Given the description of an element on the screen output the (x, y) to click on. 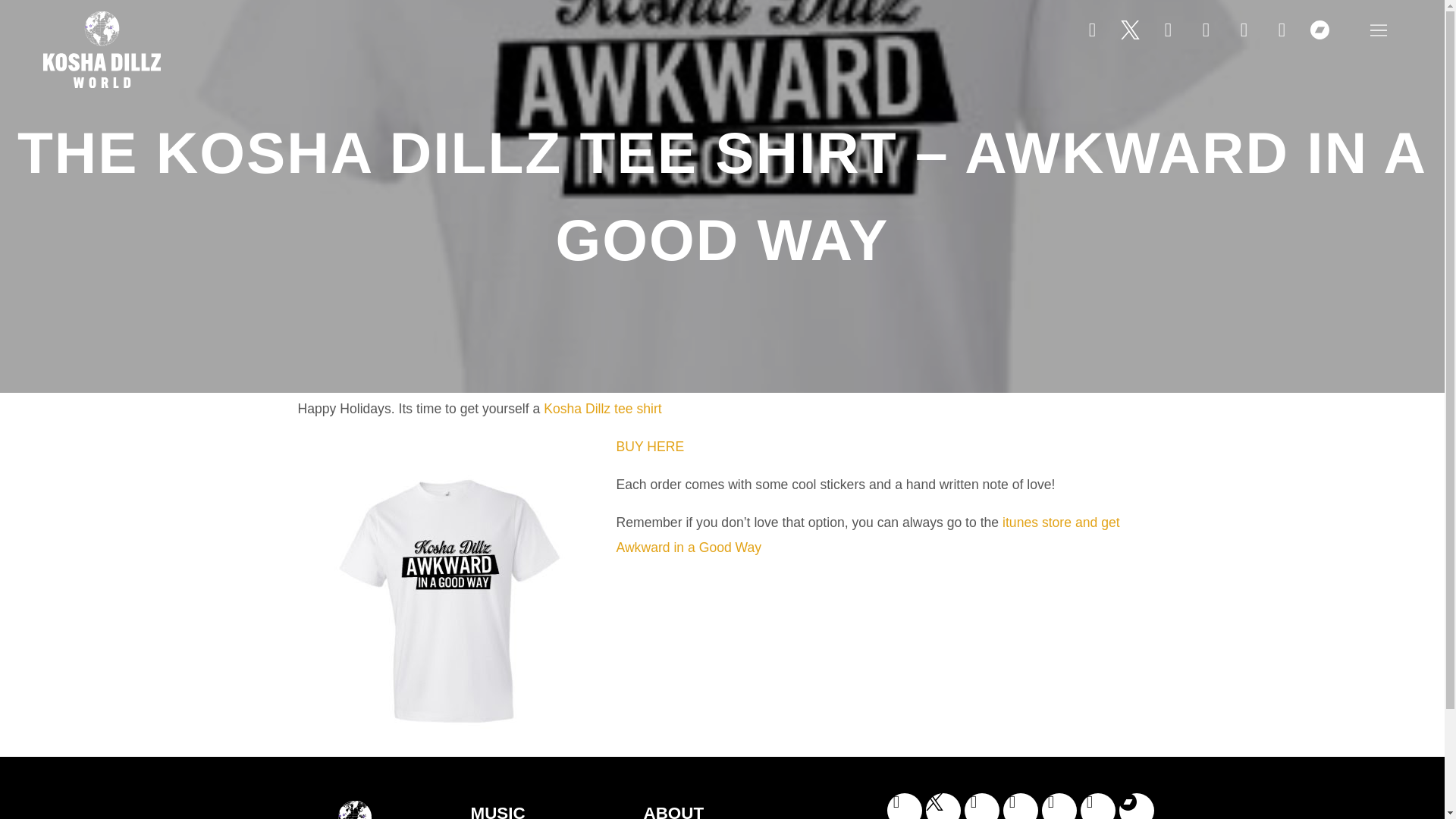
BUY HERE (649, 446)
MUSIC (548, 809)
itunes store and get Awkward in a Good Way (867, 535)
ABOUT (730, 809)
Kosha Dillz tee shirt (602, 408)
